Given the description of an element on the screen output the (x, y) to click on. 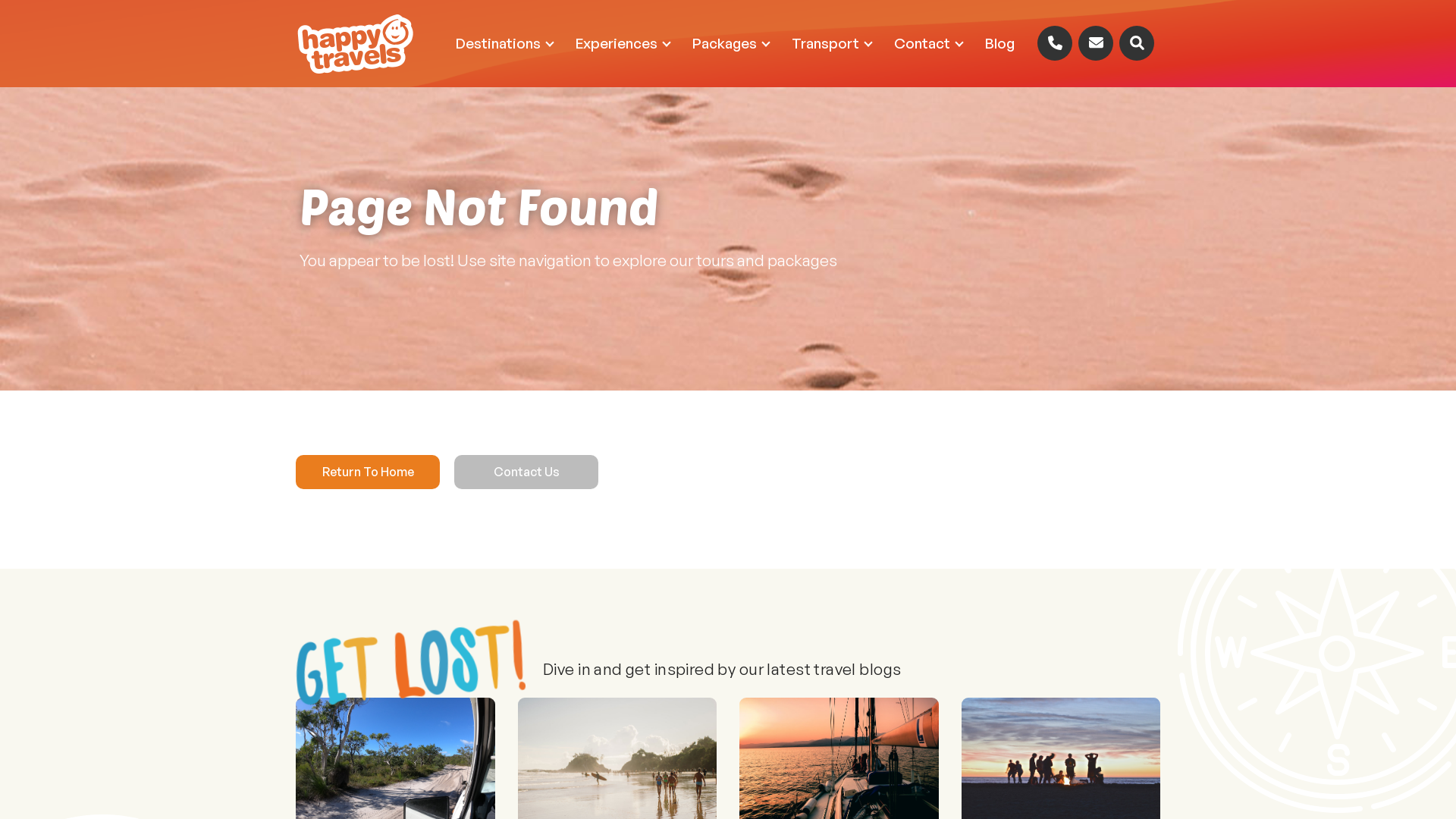
Blog Element type: text (999, 43)
Transport Element type: text (831, 43)
Packages Element type: text (730, 43)
Contact Us Element type: text (526, 472)
Return To Home Element type: text (367, 472)
Destinations Element type: text (504, 43)
Experiences Element type: text (622, 43)
Contact Element type: text (927, 43)
